Given the description of an element on the screen output the (x, y) to click on. 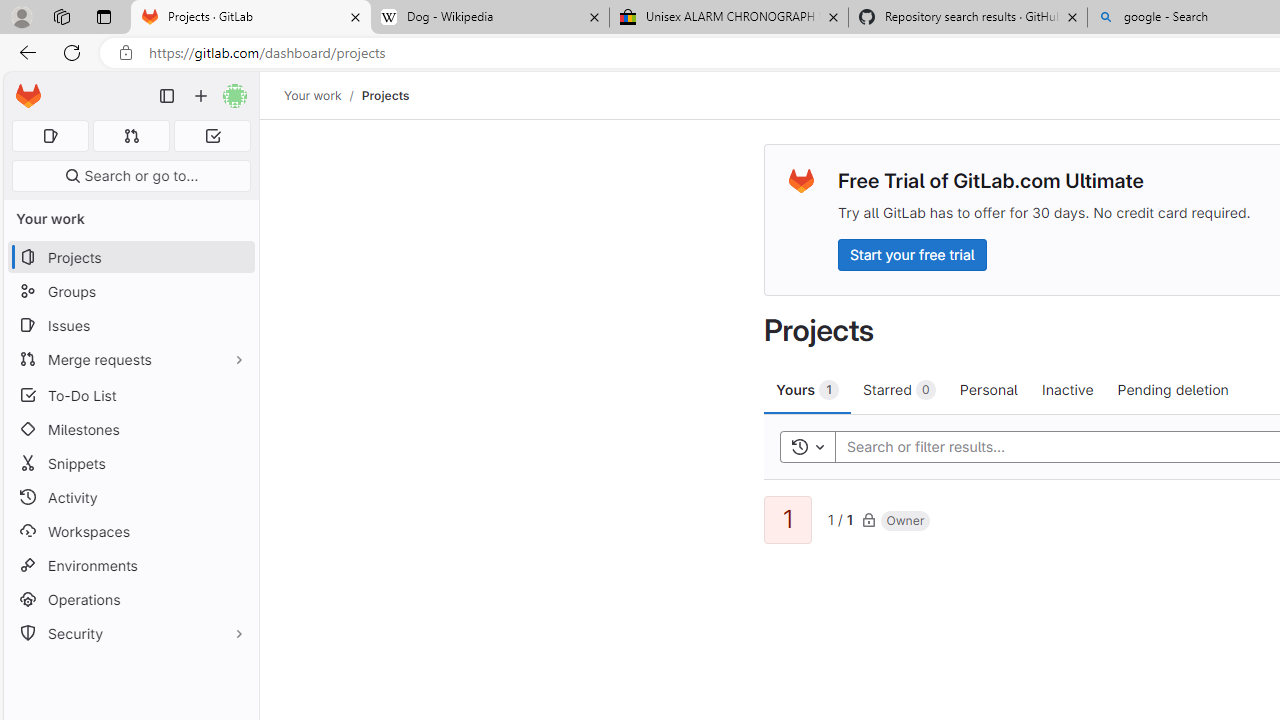
Merge requests (130, 358)
Personal (988, 389)
Starred 0 (899, 389)
Toggle history (807, 445)
Assigned issues 0 (50, 136)
Security (130, 633)
Snippets (130, 463)
Issues (130, 325)
Your work (312, 95)
1 / 1 (840, 518)
To-Do List (130, 394)
